Given the description of an element on the screen output the (x, y) to click on. 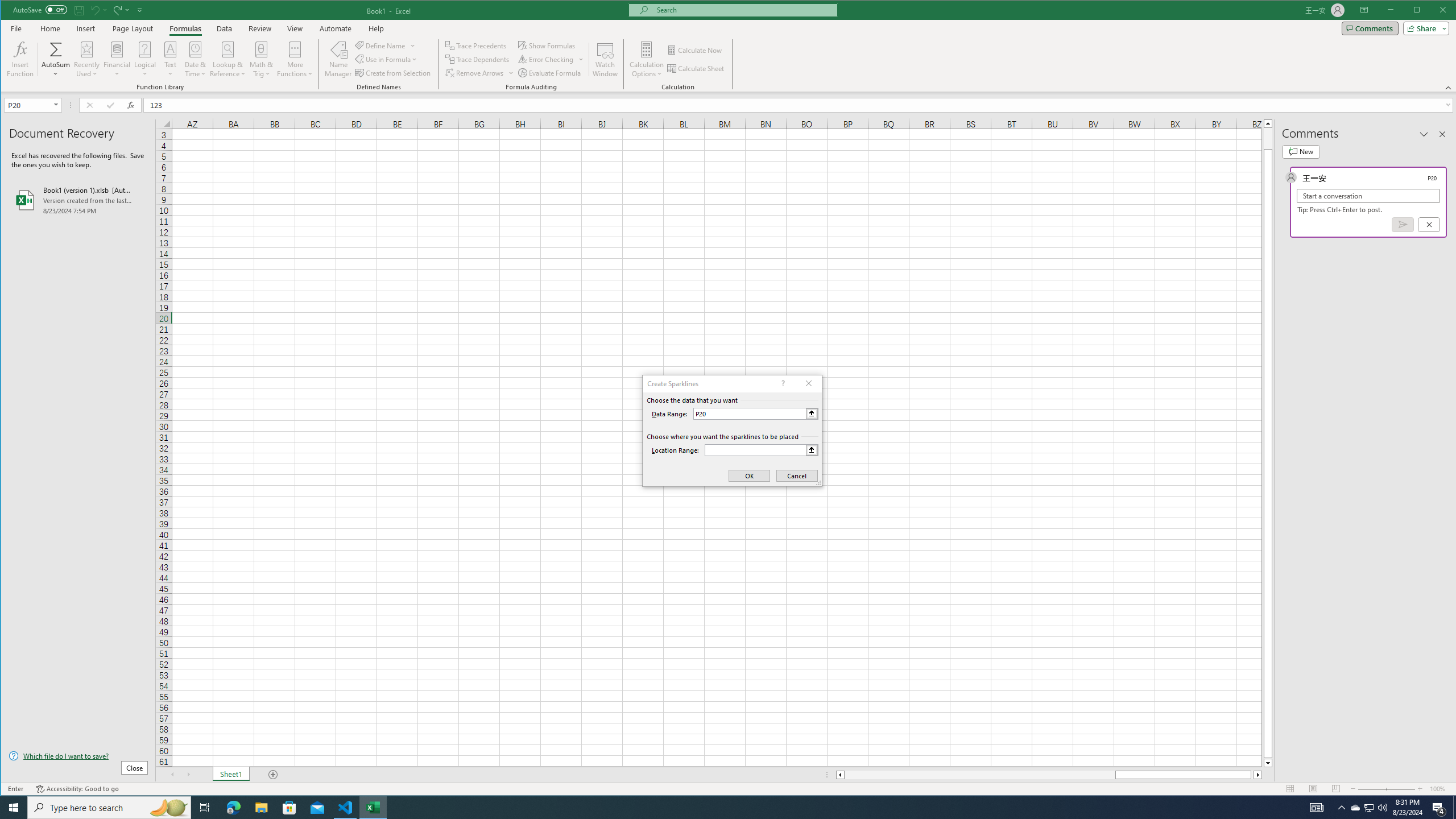
Maximize (1432, 11)
Error Checking... (546, 59)
Page Break Preview (1335, 788)
File Tab (16, 27)
Review (259, 28)
Data (224, 28)
Page left (979, 774)
Watch Window (604, 59)
Save (79, 9)
Formulas (184, 28)
Show Formulas (547, 45)
Financial (116, 59)
